Given the description of an element on the screen output the (x, y) to click on. 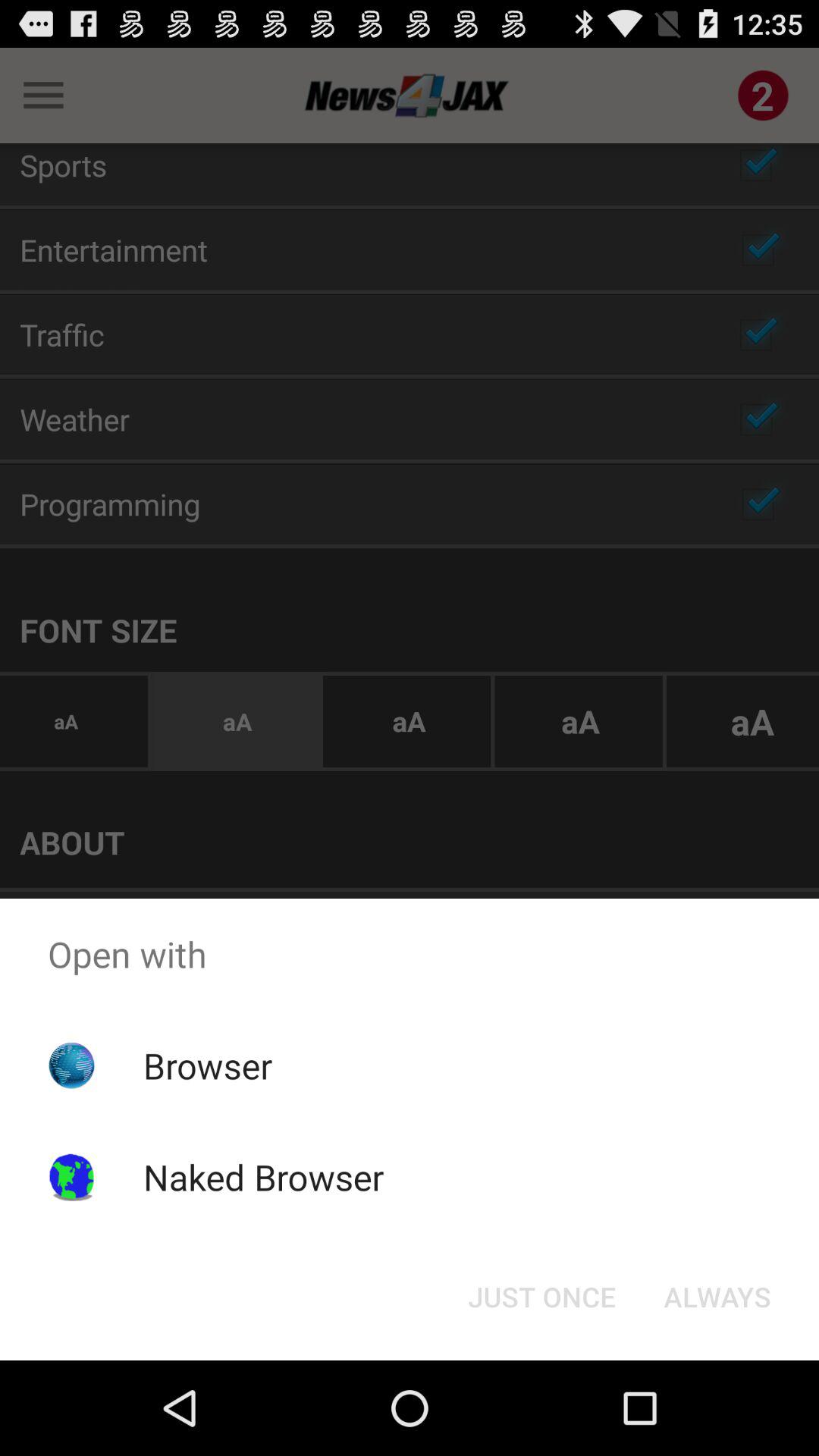
open the button at the bottom (541, 1296)
